Given the description of an element on the screen output the (x, y) to click on. 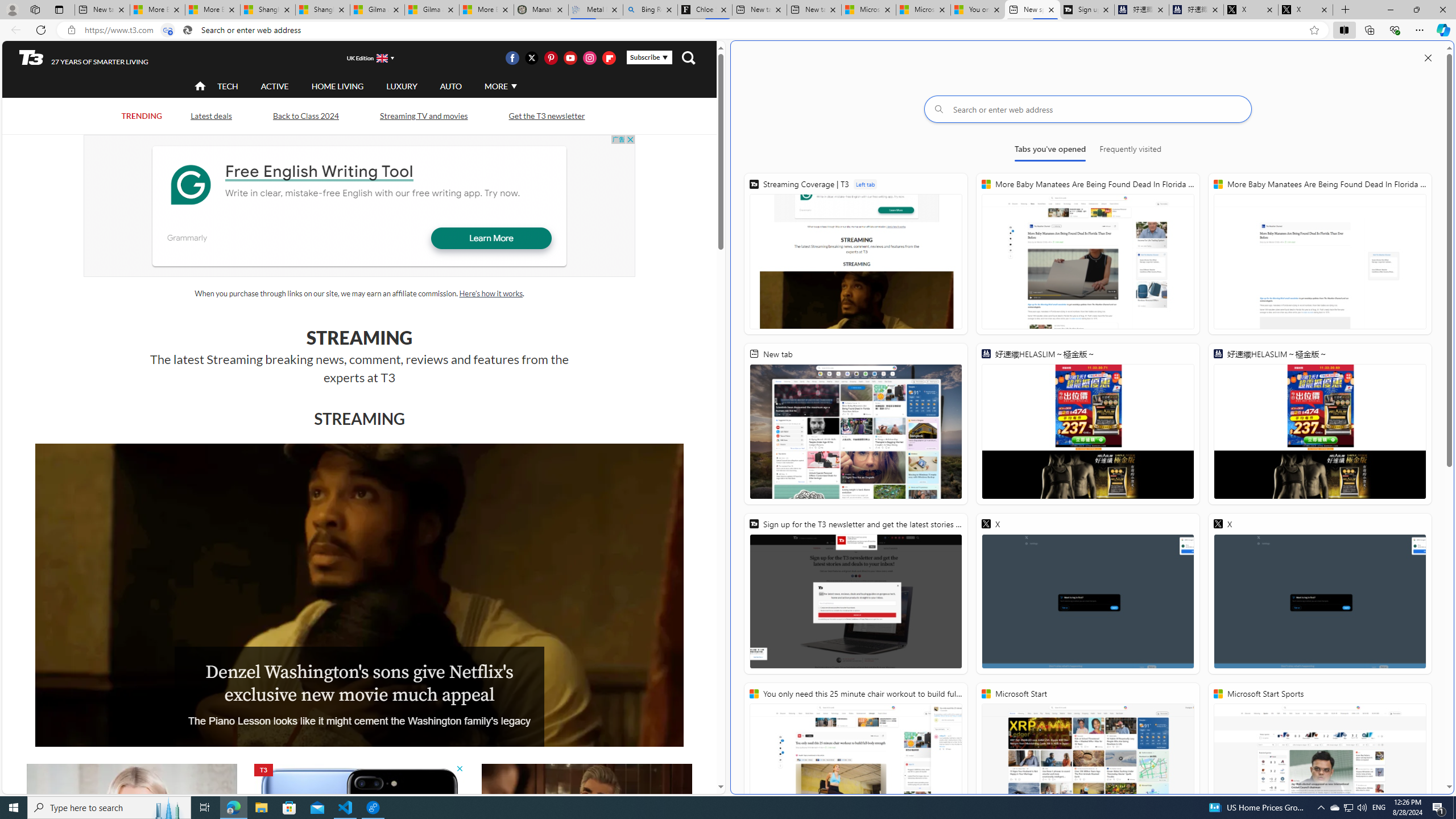
Visit us on Flipboard (608, 57)
Streaming TV and movies (423, 115)
Get the T3 newsletter (546, 115)
Latest deals (210, 115)
Visit us on Youtube (569, 57)
Tabs in split screen (167, 29)
MORE  (499, 86)
LUXURY (401, 86)
Visit us on Pintrest (550, 57)
